Given the description of an element on the screen output the (x, y) to click on. 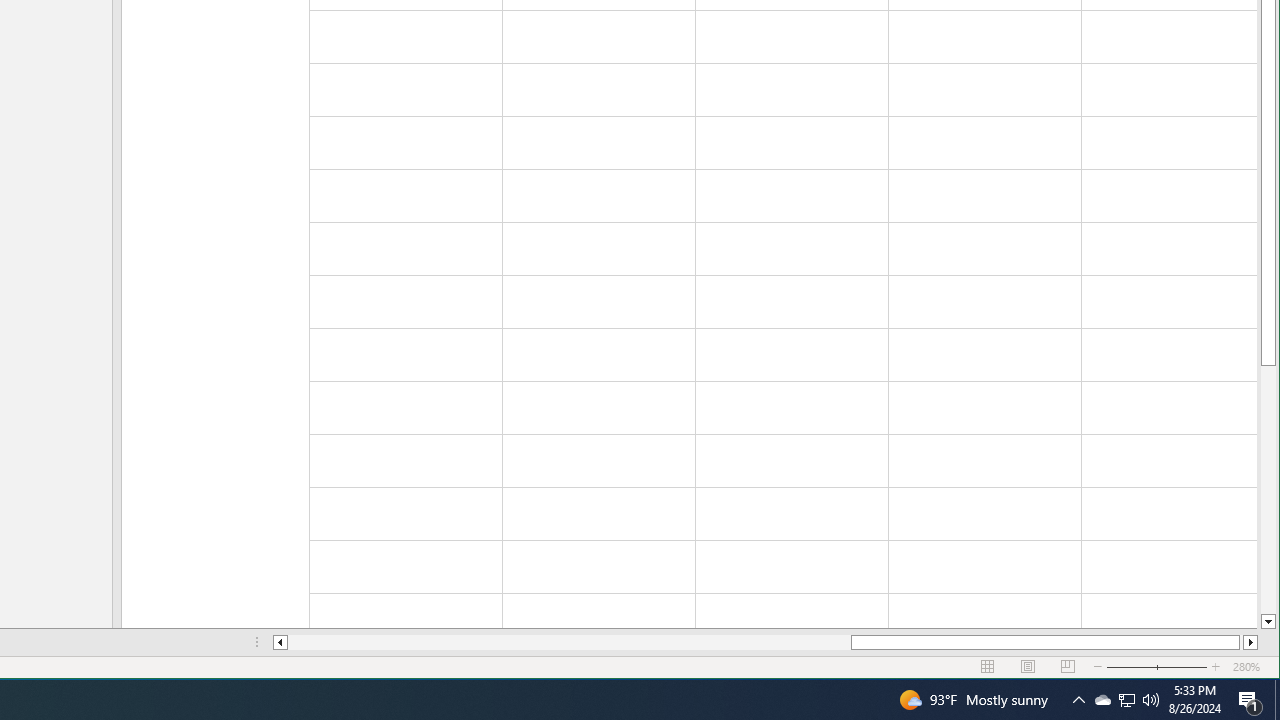
Notification Chevron (1078, 699)
User Promoted Notification Area (1126, 699)
Q2790: 100% (1151, 699)
Show desktop (1277, 699)
Action Center, 1 new notification (1250, 699)
